Given the description of an element on the screen output the (x, y) to click on. 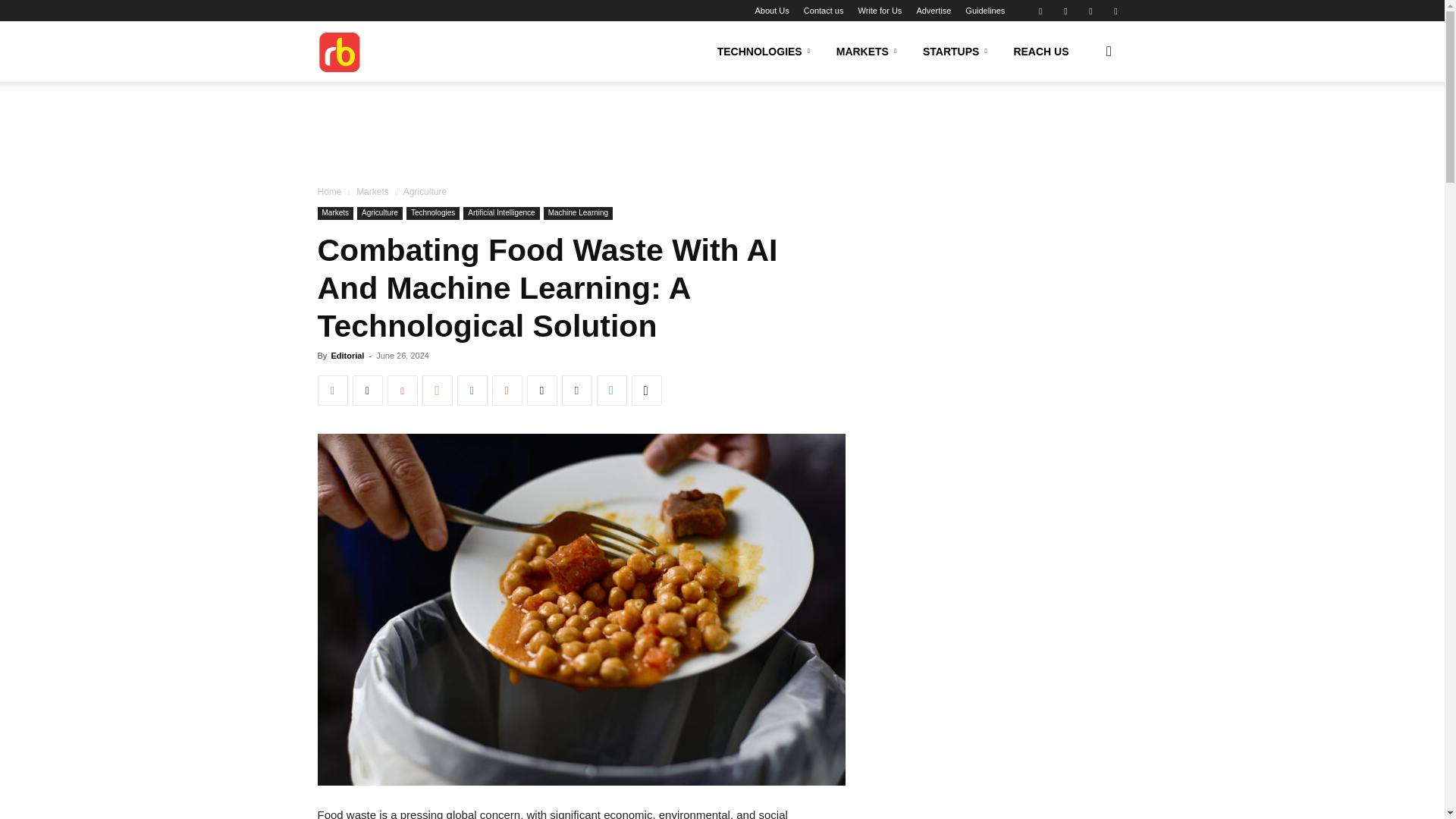
Linkedin (1065, 10)
Twitter (1114, 10)
RSS (1090, 10)
Write for Us (879, 10)
Guidelines (984, 10)
Facebook (1040, 10)
About Us (772, 10)
Contact us (823, 10)
Advertise (932, 10)
